Given the description of an element on the screen output the (x, y) to click on. 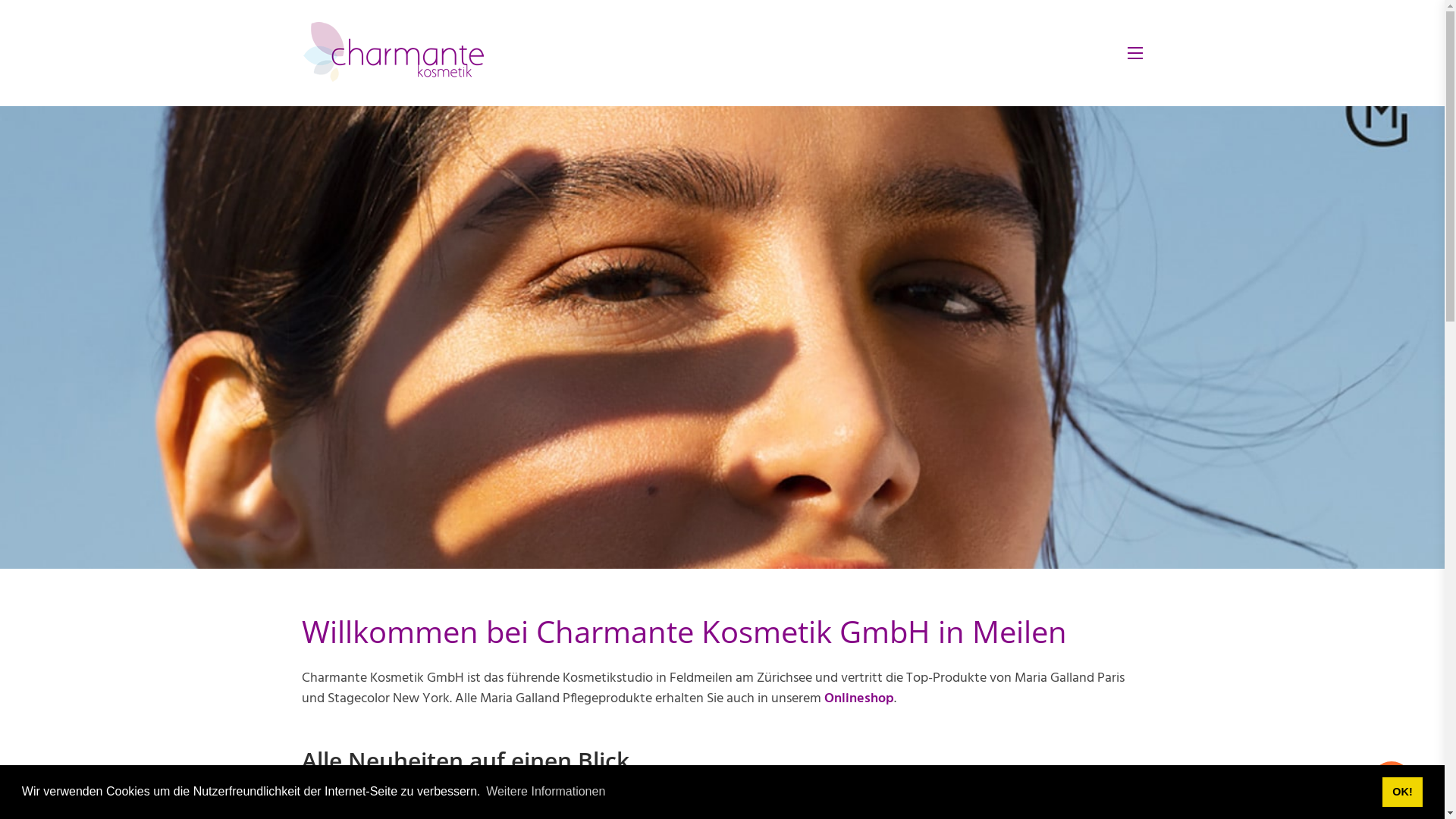
Weitere Informationen Element type: text (545, 791)
charmantekosmetik.ch Element type: hover (392, 52)
OK! Element type: text (1402, 791)
Onlineshop Element type: text (858, 698)
